Given the description of an element on the screen output the (x, y) to click on. 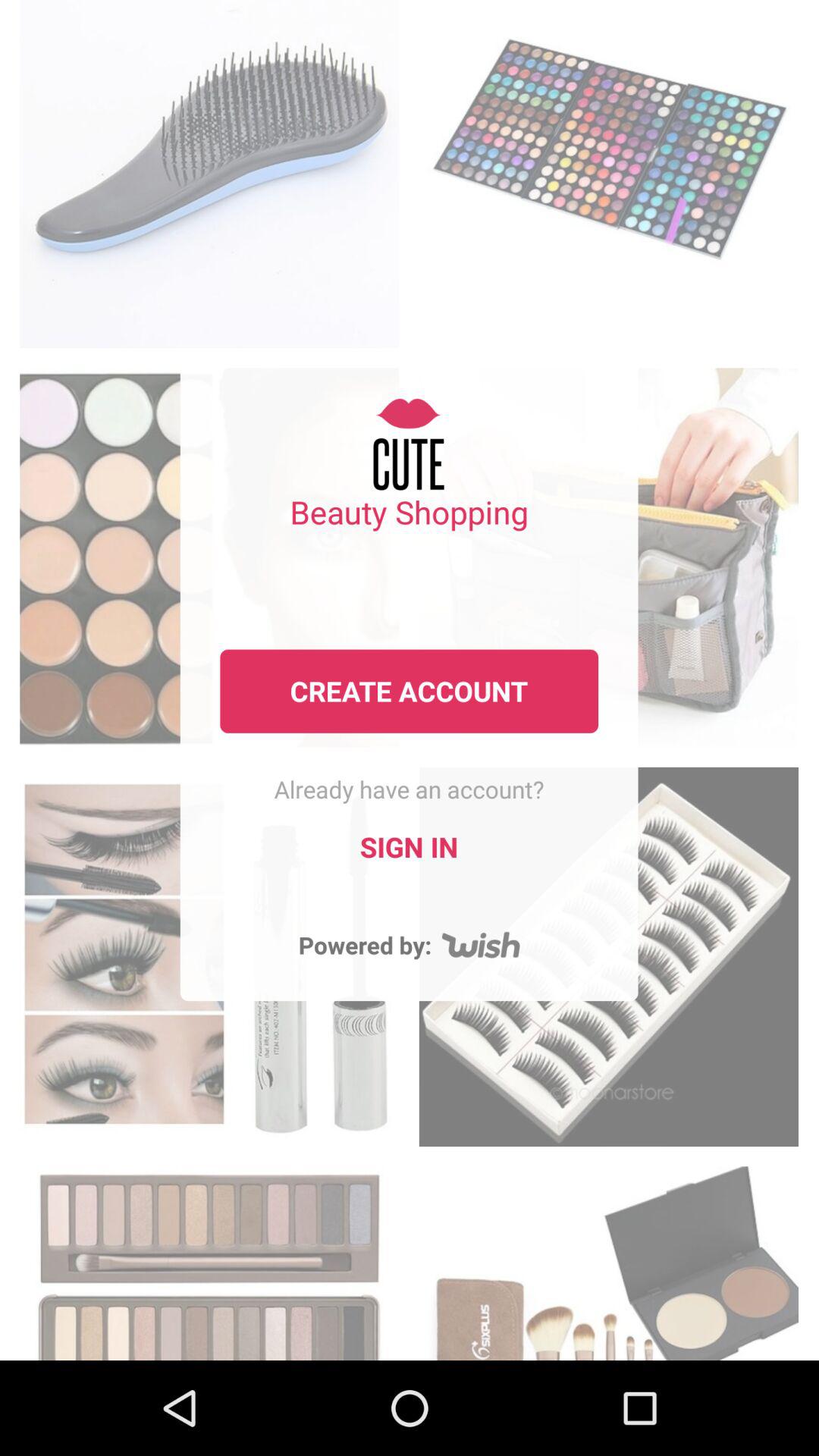
eye makeup (209, 1258)
